Given the description of an element on the screen output the (x, y) to click on. 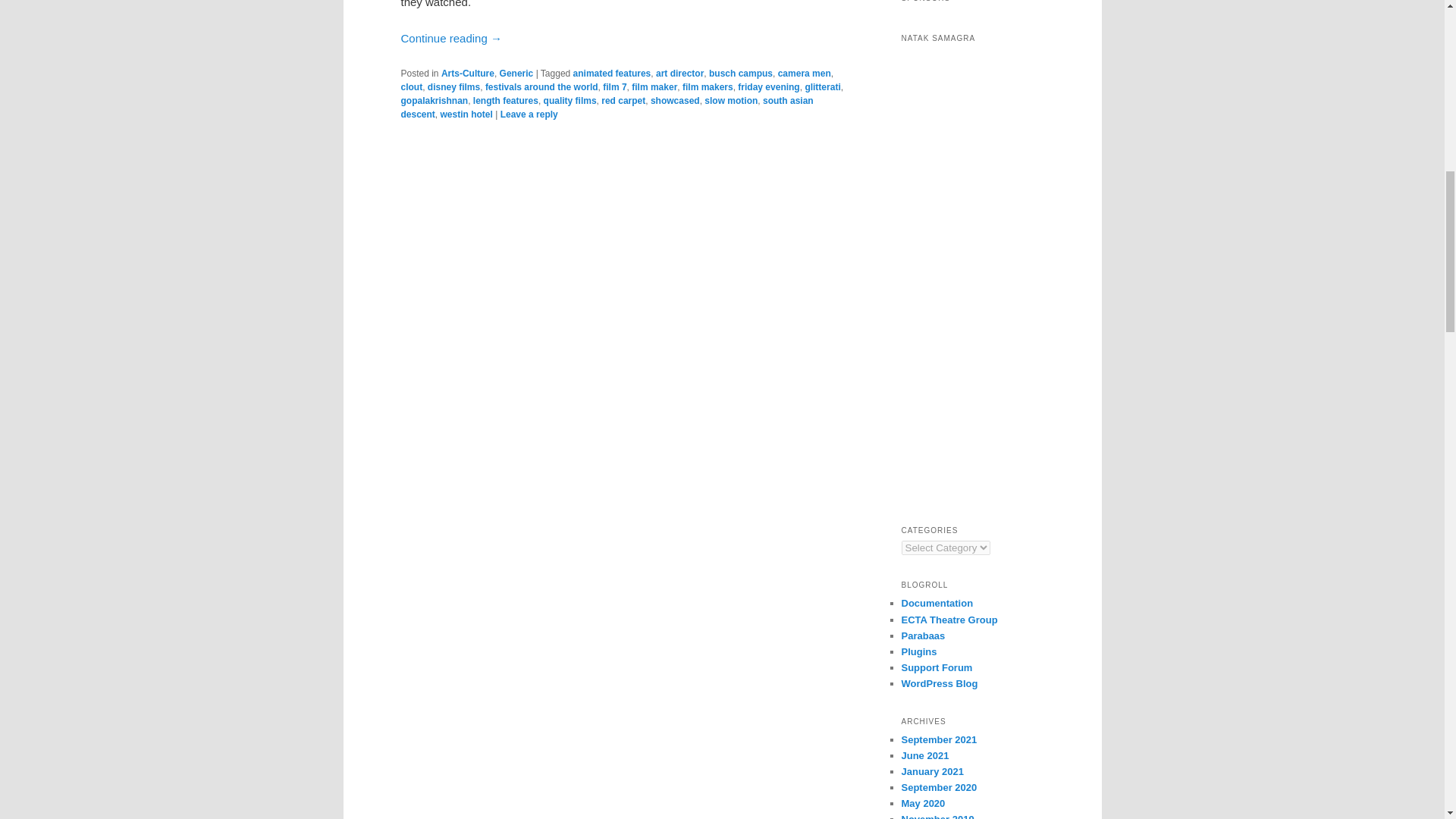
film 7 (614, 86)
gopalakrishnan (433, 100)
A Bengali Webzine (922, 635)
Generic (516, 72)
art director (679, 72)
slow motion (730, 100)
film maker (654, 86)
red carpet (623, 100)
friday evening (768, 86)
animated features (611, 72)
clout (411, 86)
festivals around the world (541, 86)
camera men (804, 72)
Arts-Culture (468, 72)
A Theater Group Based in New Jersey (949, 619)
